Given the description of an element on the screen output the (x, y) to click on. 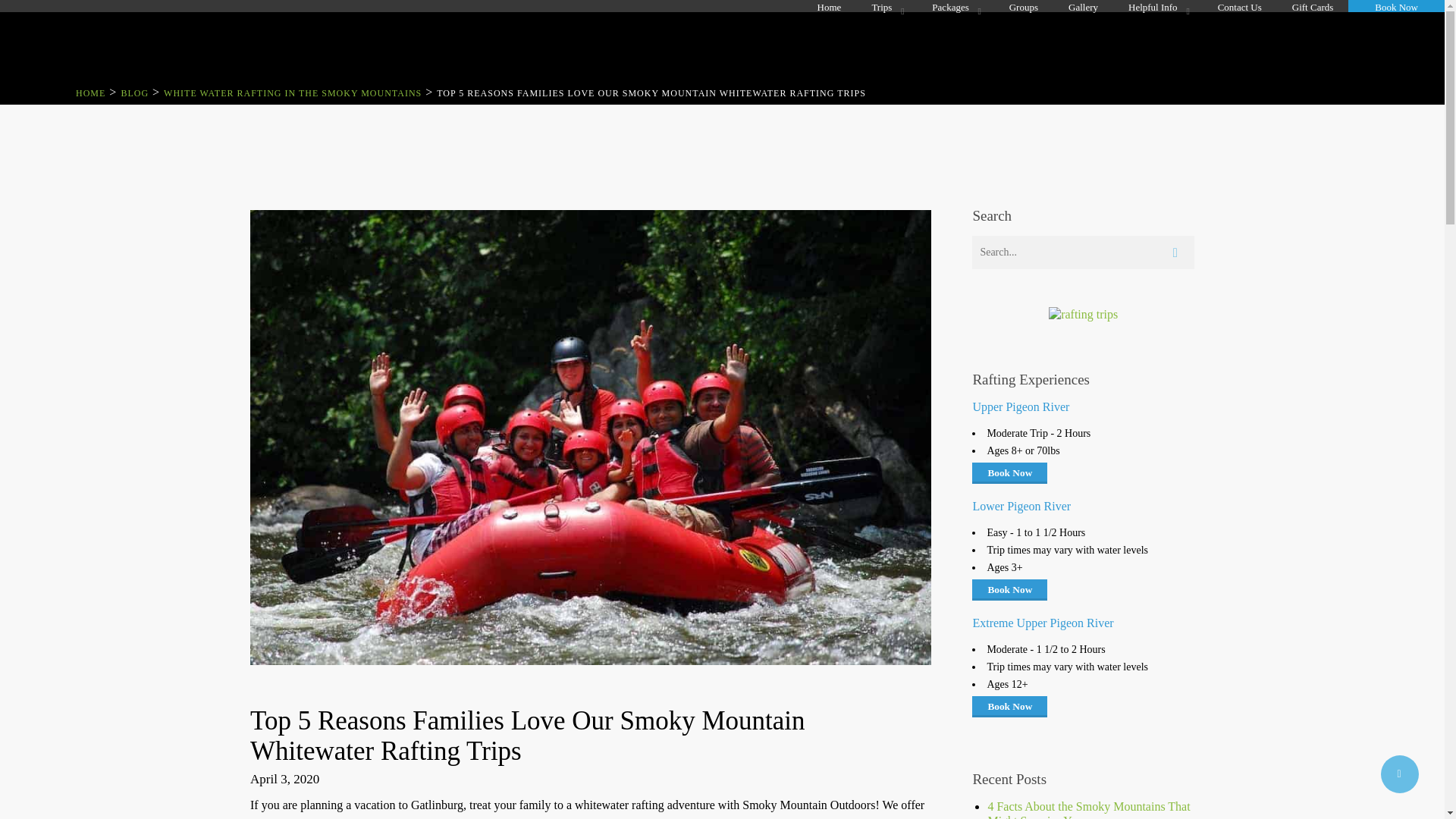
Hiking Trails in the Smoky Mountains. (134, 92)
Groups (1023, 6)
Helpful Info (1157, 6)
BLOG (134, 92)
Trips (886, 6)
HOME (89, 92)
WHITE WATER RAFTING IN THE SMOKY MOUNTAINS (292, 92)
Search for: (1082, 252)
Gift Cards (1312, 6)
Book Now (1396, 6)
